Given the description of an element on the screen output the (x, y) to click on. 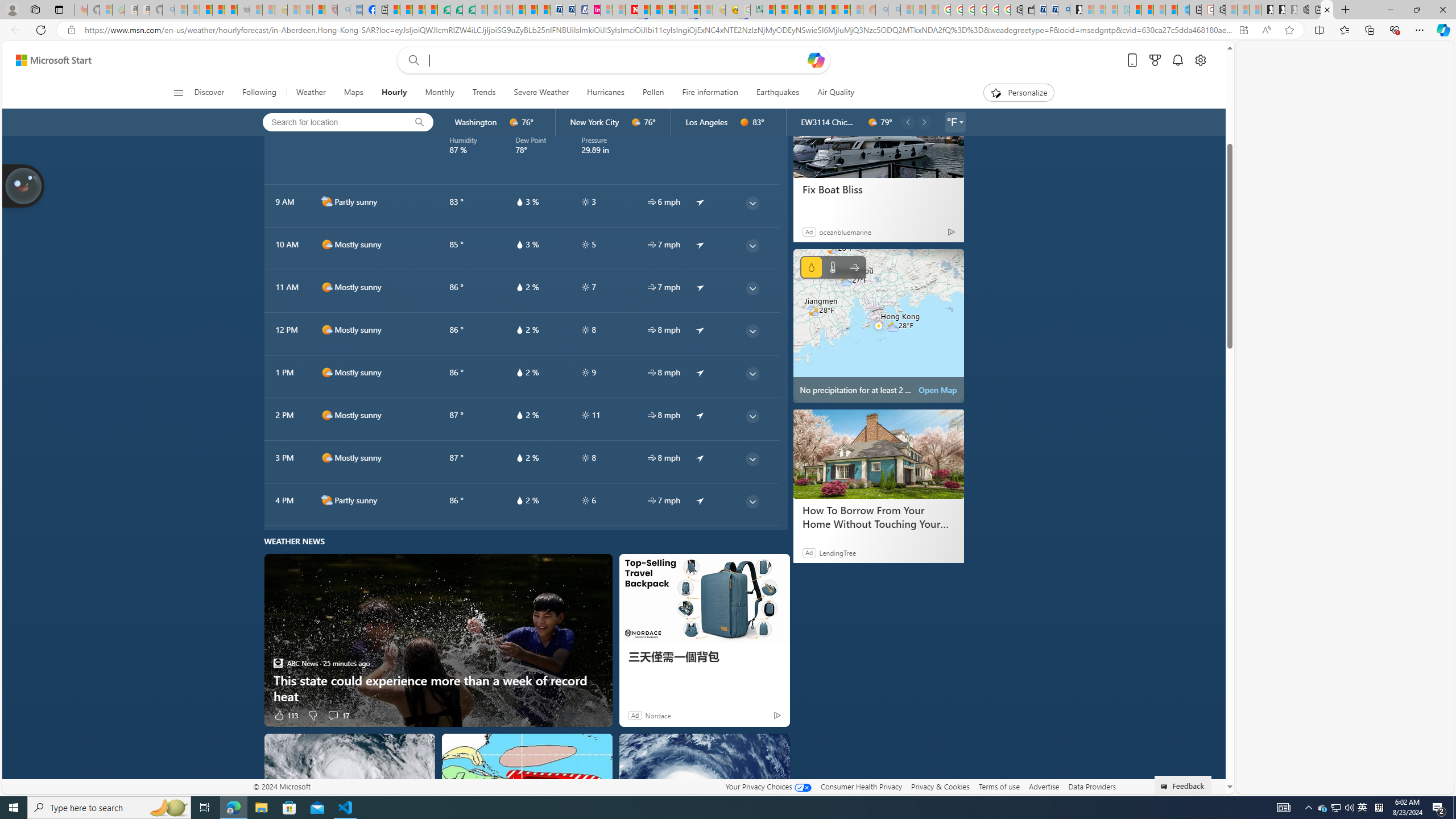
Join us in planting real trees to help our planet! (23, 184)
